Given the description of an element on the screen output the (x, y) to click on. 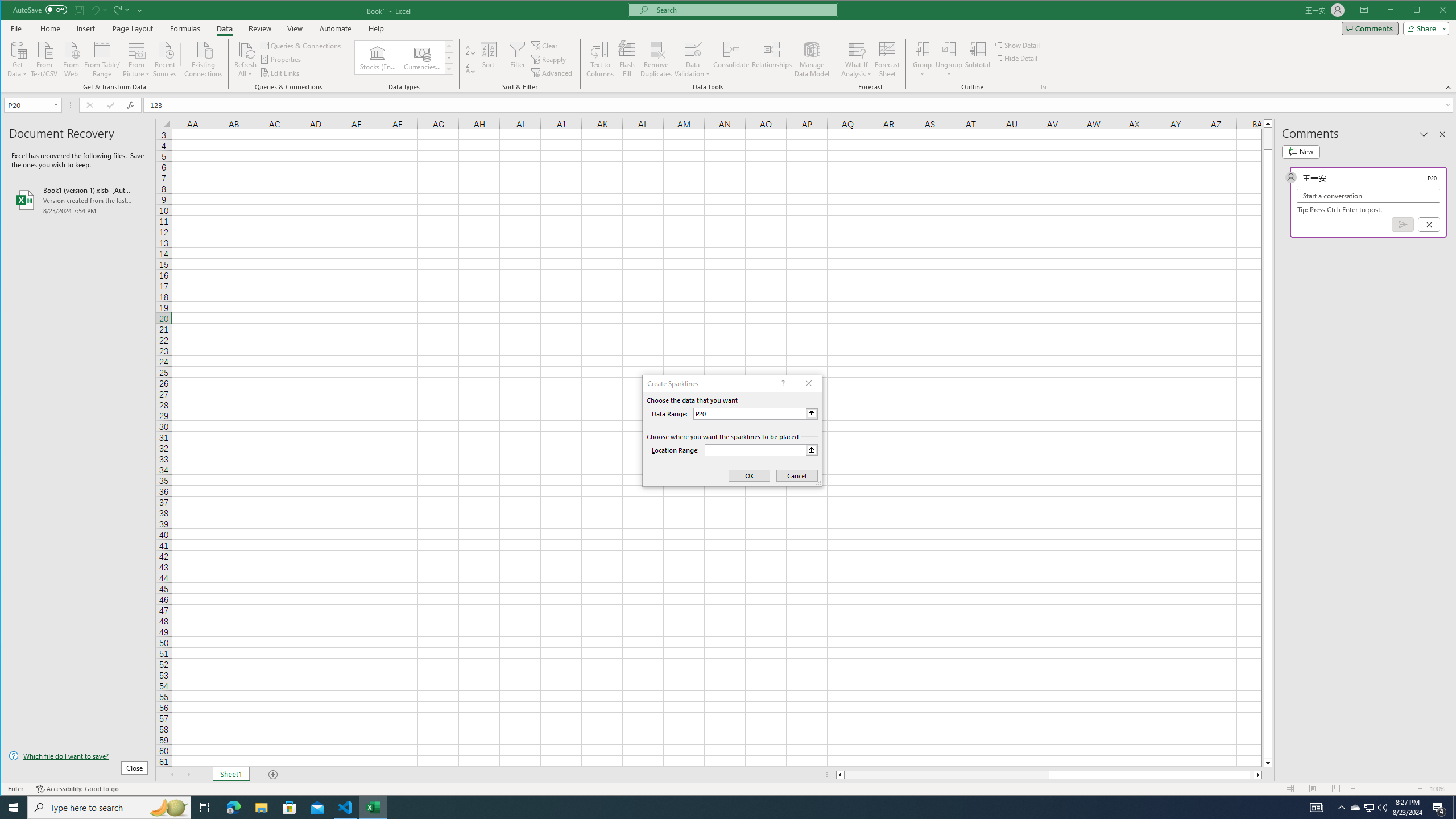
Class: NetUIImage (448, 68)
Reapply (549, 59)
